Given the description of an element on the screen output the (x, y) to click on. 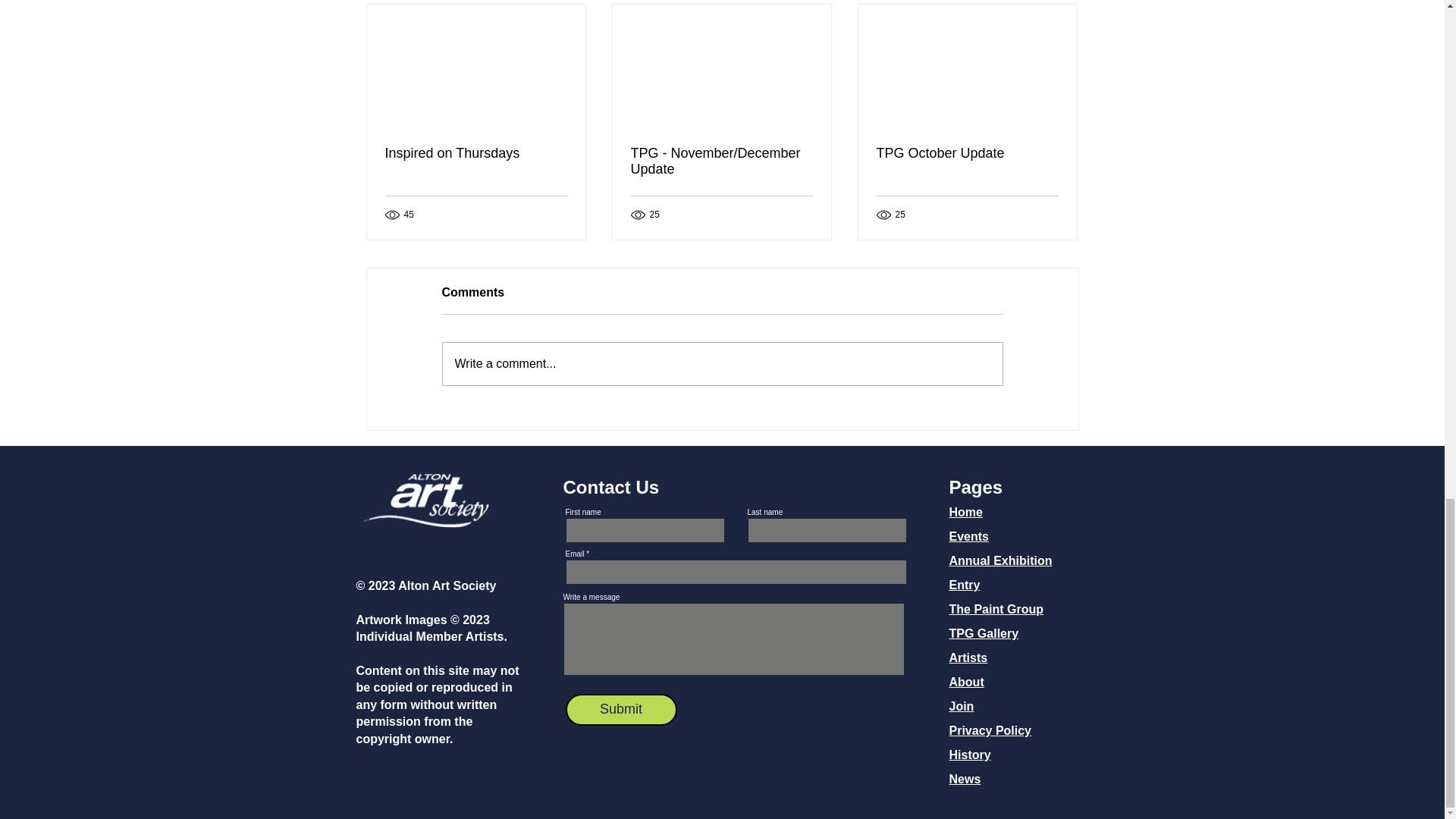
Privacy Policy (990, 730)
The Paint Group (996, 608)
Submit (621, 709)
About (966, 681)
History (970, 754)
Inspired on Thursdays (476, 153)
TPG Gallery (984, 633)
Annual Exhibition Entry (1000, 572)
Home (965, 512)
TPG October Update (967, 153)
News (965, 779)
Events (968, 535)
Artists (968, 657)
Join (961, 706)
Write a comment... (722, 363)
